Given the description of an element on the screen output the (x, y) to click on. 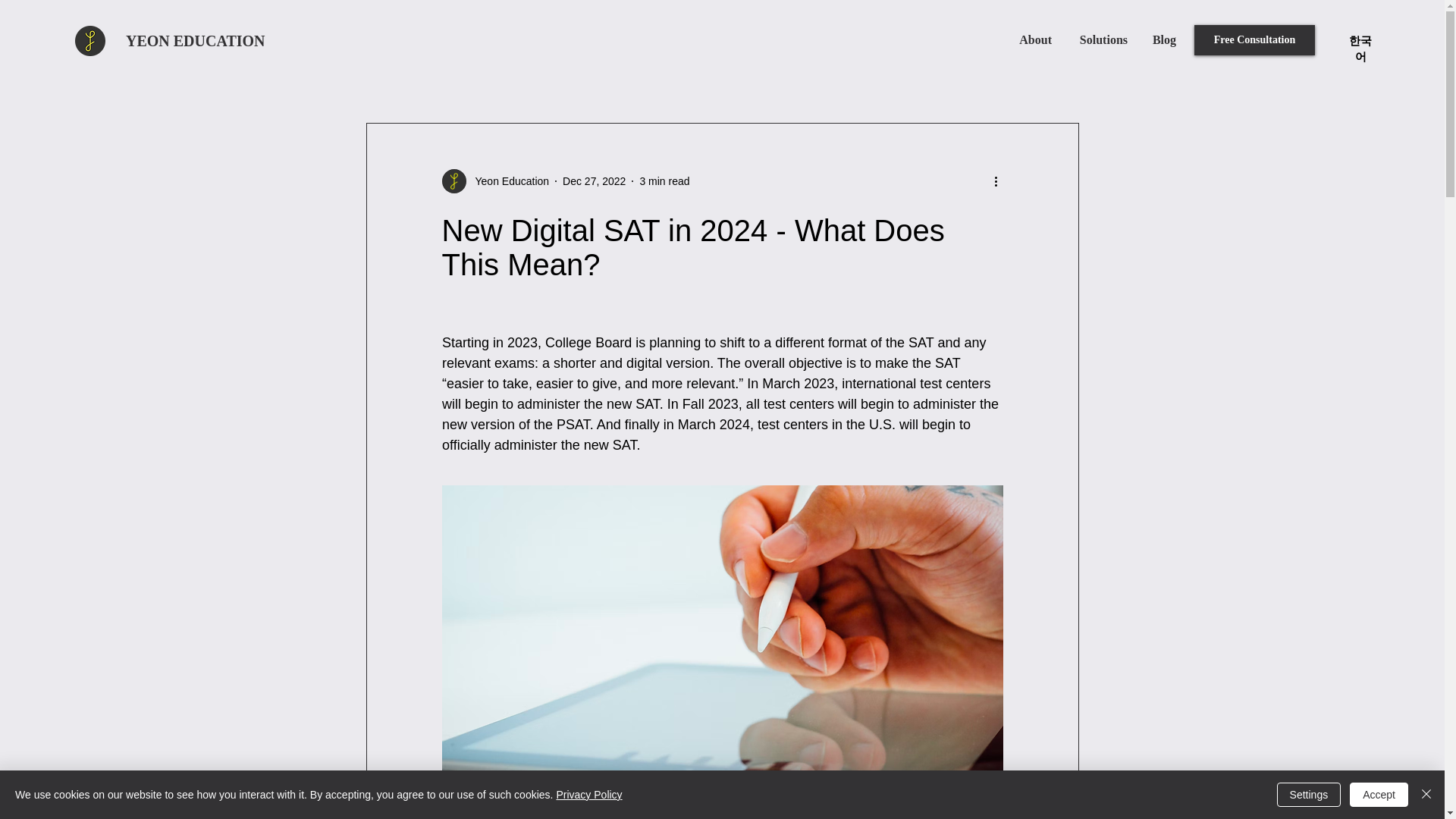
Settings (1308, 794)
YEON EDUCATION (194, 40)
About (1034, 39)
3 min read (663, 180)
Yeon.png (89, 40)
Yeon Education (506, 180)
Solutions (1100, 39)
Blog (1163, 39)
Privacy Policy (588, 794)
Free Consultation (1253, 40)
